Given the description of an element on the screen output the (x, y) to click on. 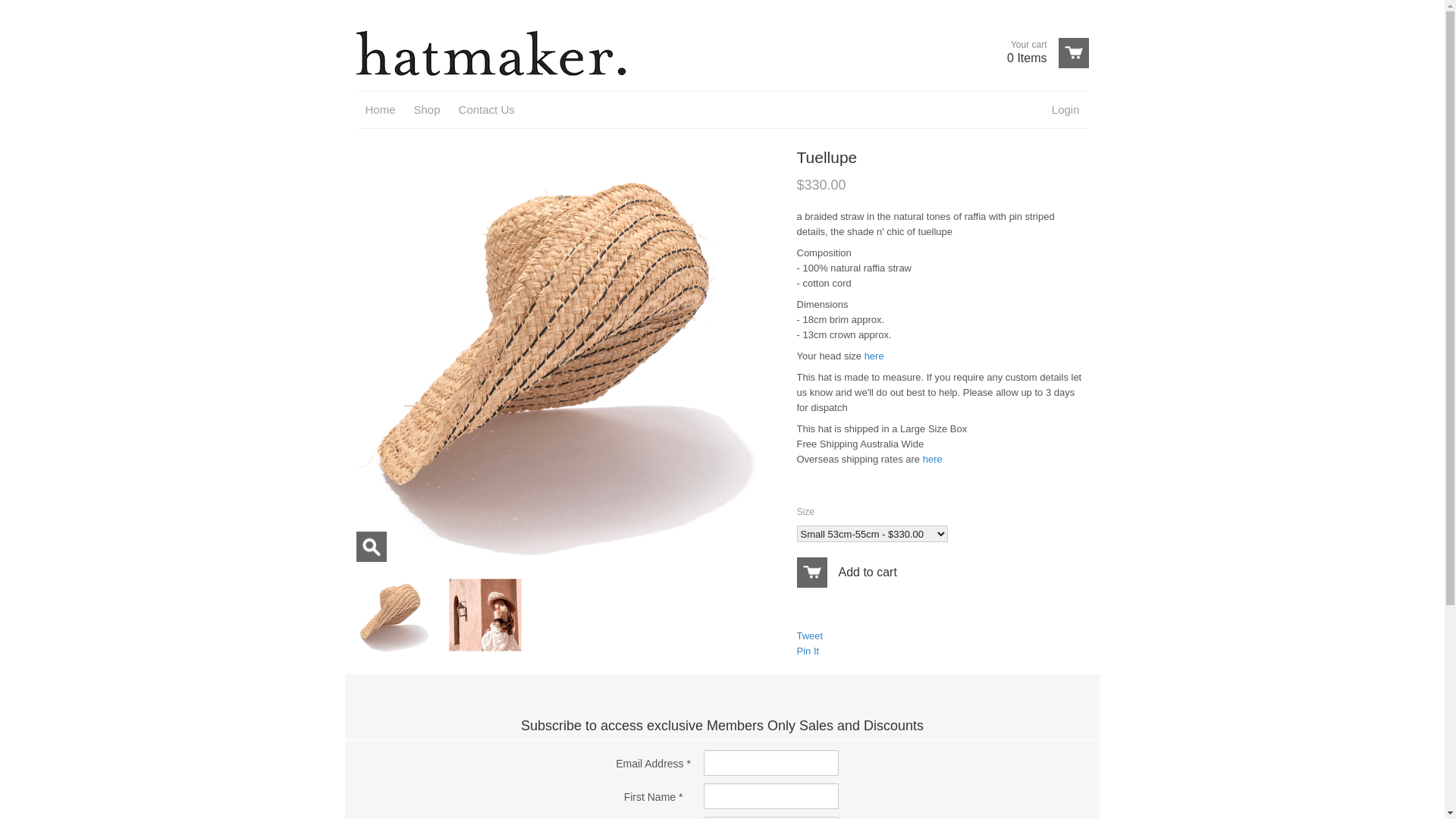
here Element type: text (874, 355)
here Element type: text (932, 458)
Tweet Element type: text (809, 635)
Shop Element type: text (426, 109)
Login Element type: text (1065, 109)
Enlarge Image Element type: text (371, 546)
View cart
Your cart
0 Items Element type: text (1041, 52)
Pin It Element type: text (807, 650)
Home Element type: text (380, 109)
Add to cart Element type: text (27, 9)
Contact Us Element type: text (486, 109)
